Given the description of an element on the screen output the (x, y) to click on. 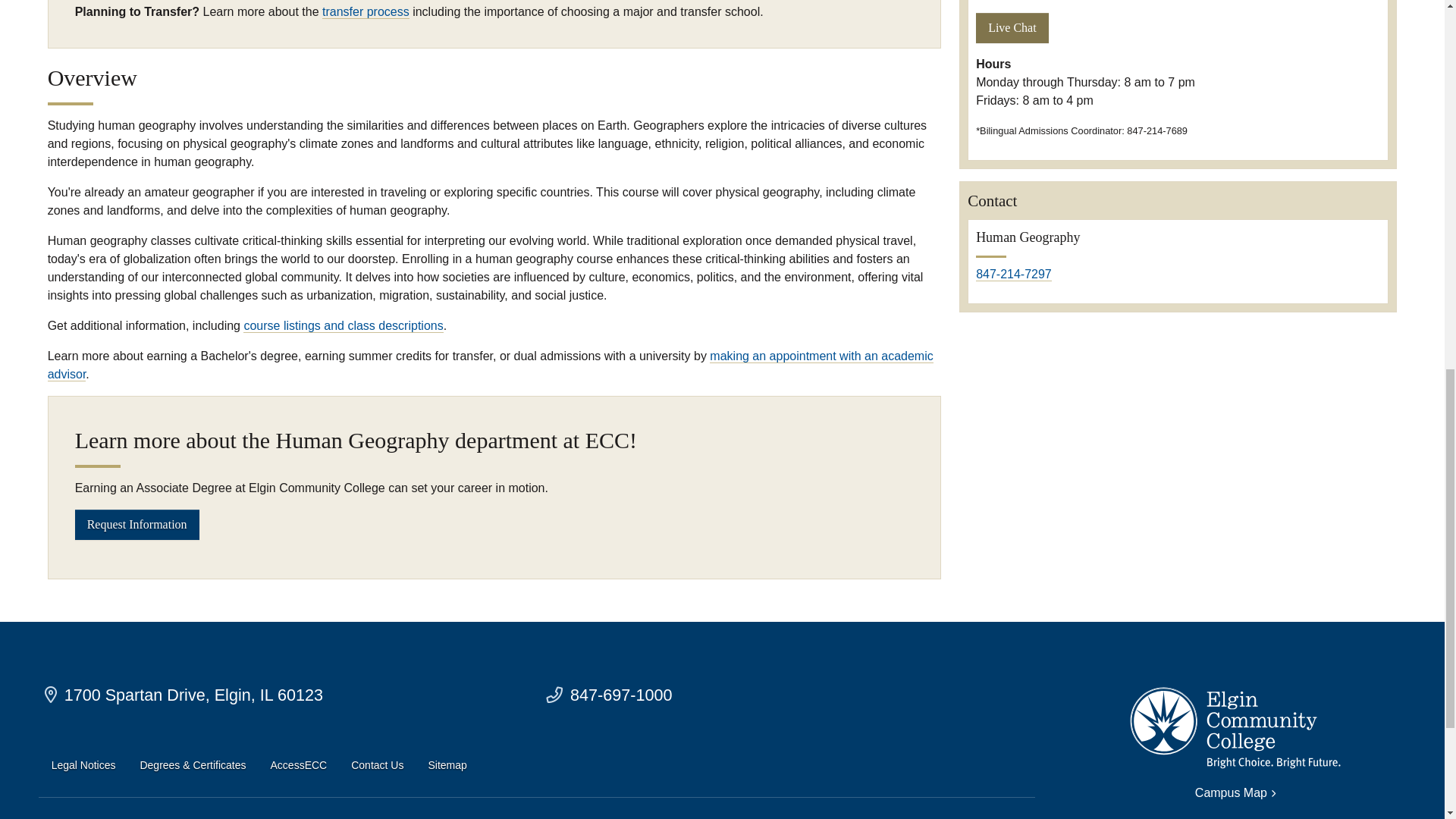
eSars advisor appointment scheduler (490, 365)
Request Information (137, 523)
Call 847-214-7297 (1013, 274)
course listings and class descriptions (342, 325)
Live Chat (1011, 28)
Spartan Drive Campus Map (184, 695)
Transfer Process (365, 11)
Contact Us (376, 765)
Contact ECC for general information (608, 695)
course listings and class descriptions (342, 325)
